Given the description of an element on the screen output the (x, y) to click on. 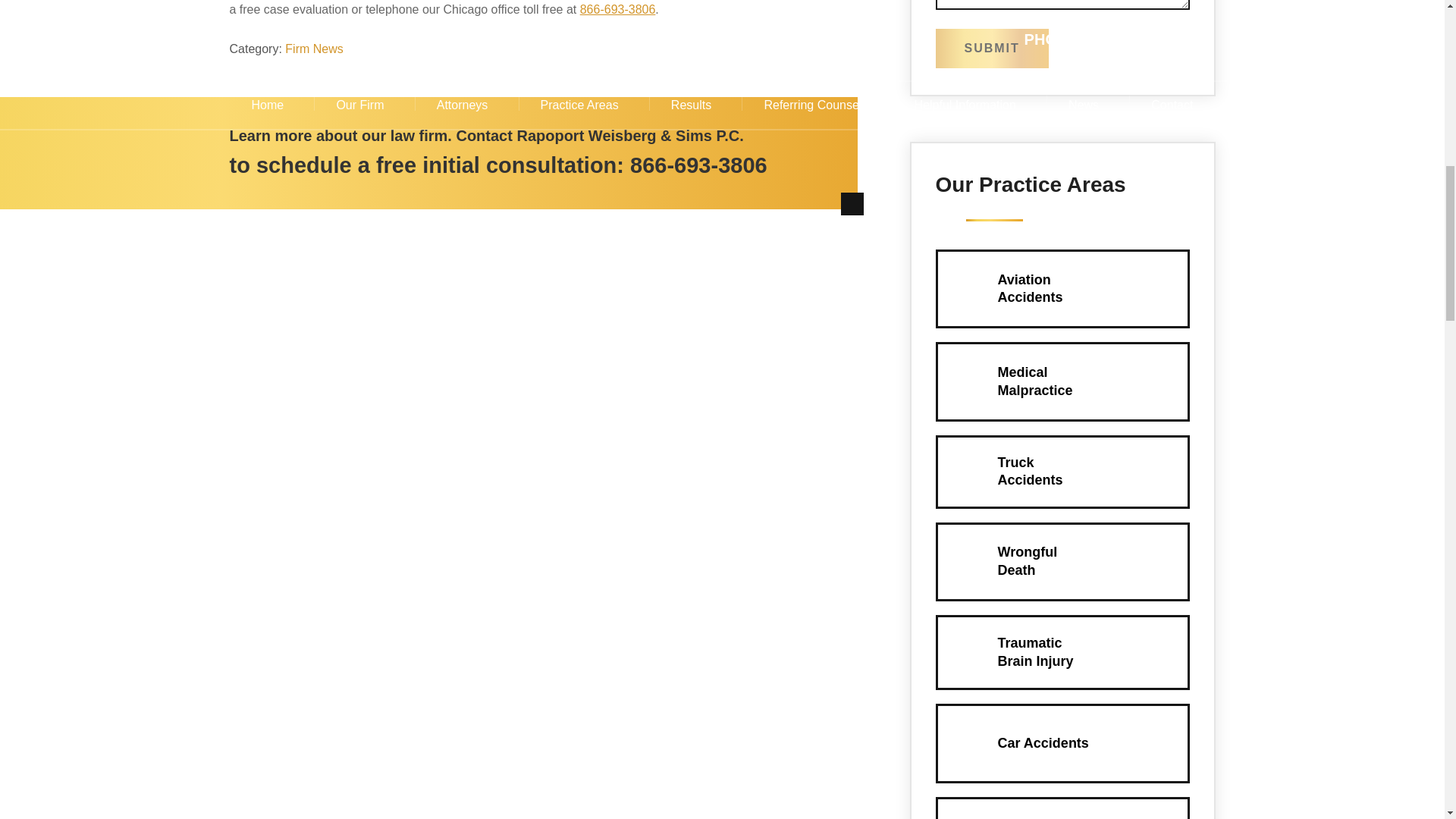
Submit (992, 47)
866-693-3806 (617, 9)
Submit (992, 47)
866-693-3806 (698, 165)
Firm News (313, 48)
